Given the description of an element on the screen output the (x, y) to click on. 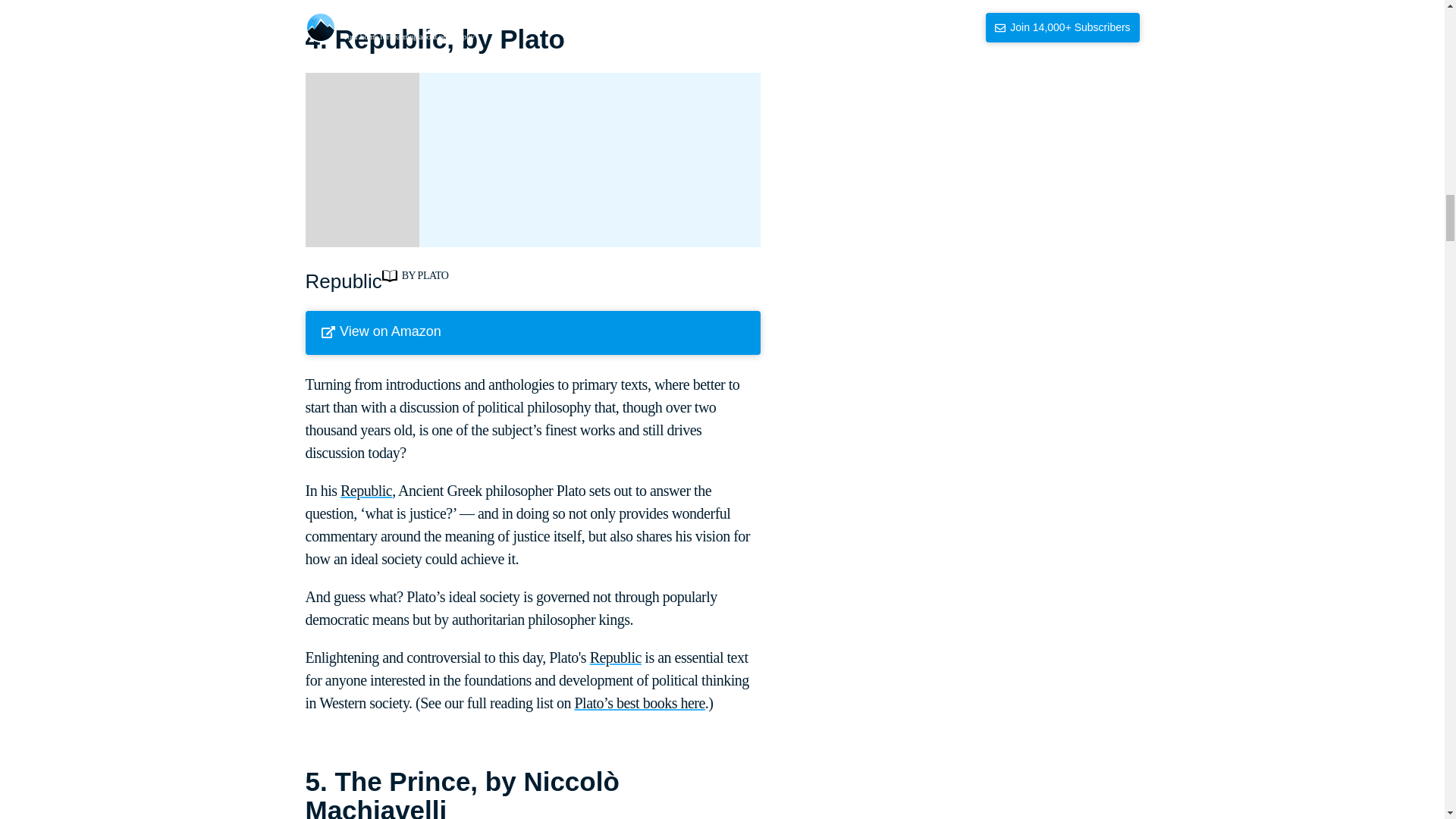
Republic (365, 490)
View on Amazon (532, 332)
Republic (615, 657)
